Given the description of an element on the screen output the (x, y) to click on. 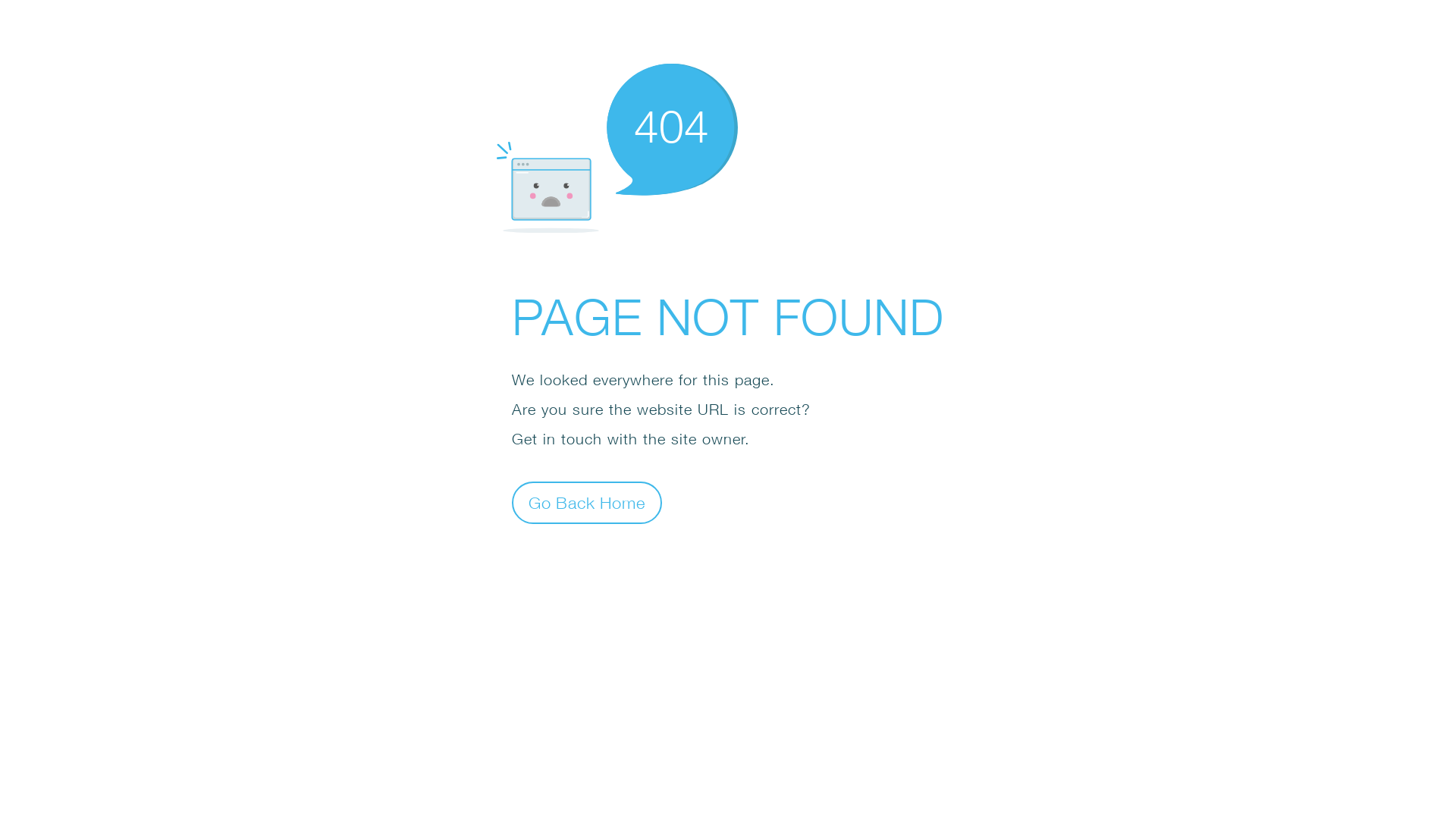
Go Back Home Element type: text (586, 502)
